Given the description of an element on the screen output the (x, y) to click on. 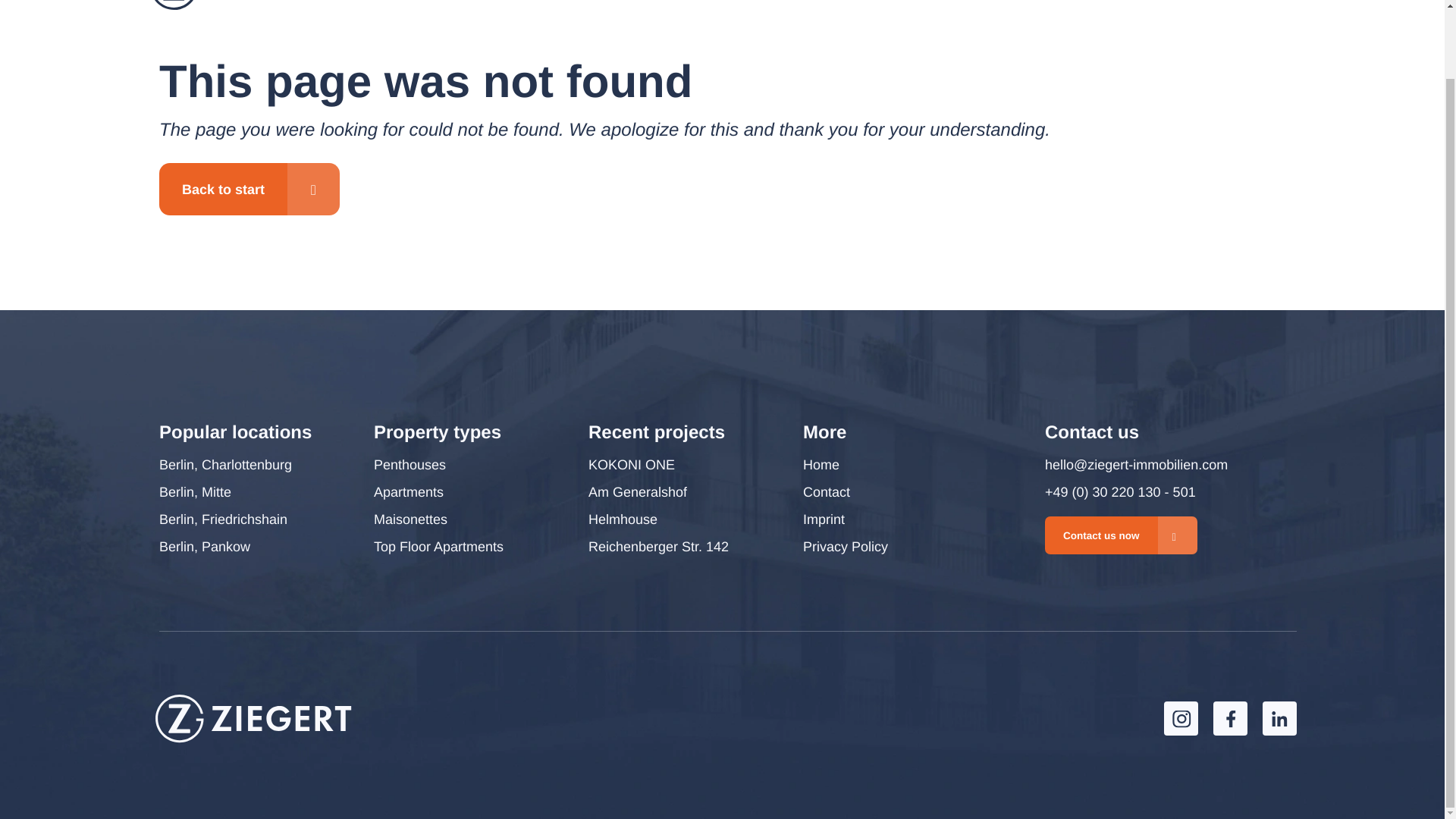
Berlin, Charlottenburg (225, 464)
Back to start (248, 188)
Berlin, Pankow (204, 546)
Popular locations (234, 433)
Berlin, Friedrichshain (222, 519)
Berlin, Mitte (194, 492)
